Given the description of an element on the screen output the (x, y) to click on. 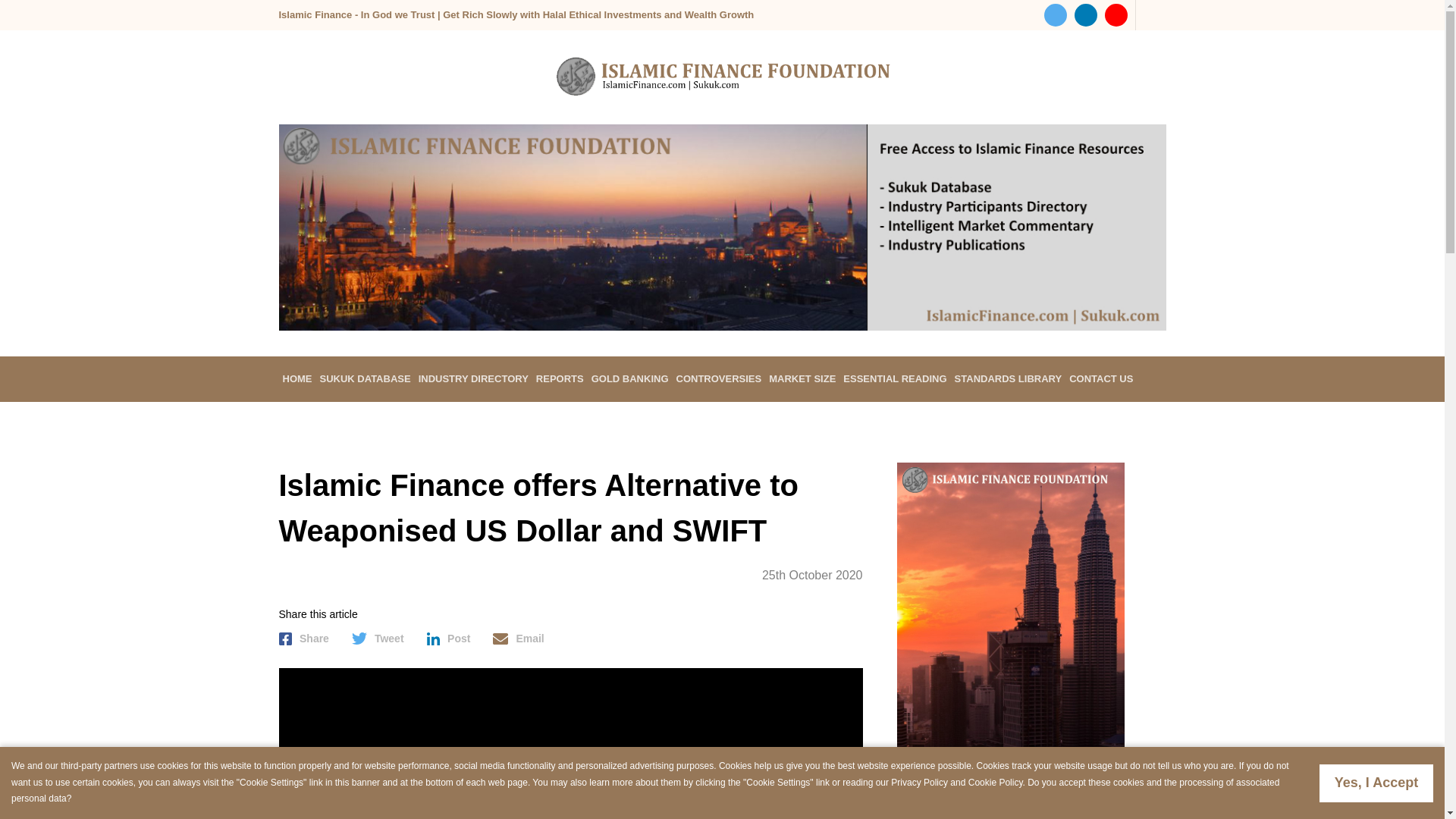
STANDARDS LIBRARY (1007, 379)
Post (448, 639)
GOLD BANKING (630, 379)
Email (518, 639)
ESSENTIAL READING (895, 379)
INDUSTRY DIRECTORY (473, 379)
CONTROVERSIES (718, 379)
CONTACT US (1101, 379)
MARKET SIZE (802, 379)
Tweet (378, 639)
SUKUK DATABASE (364, 379)
REPORTS (560, 379)
Share (304, 639)
